Given the description of an element on the screen output the (x, y) to click on. 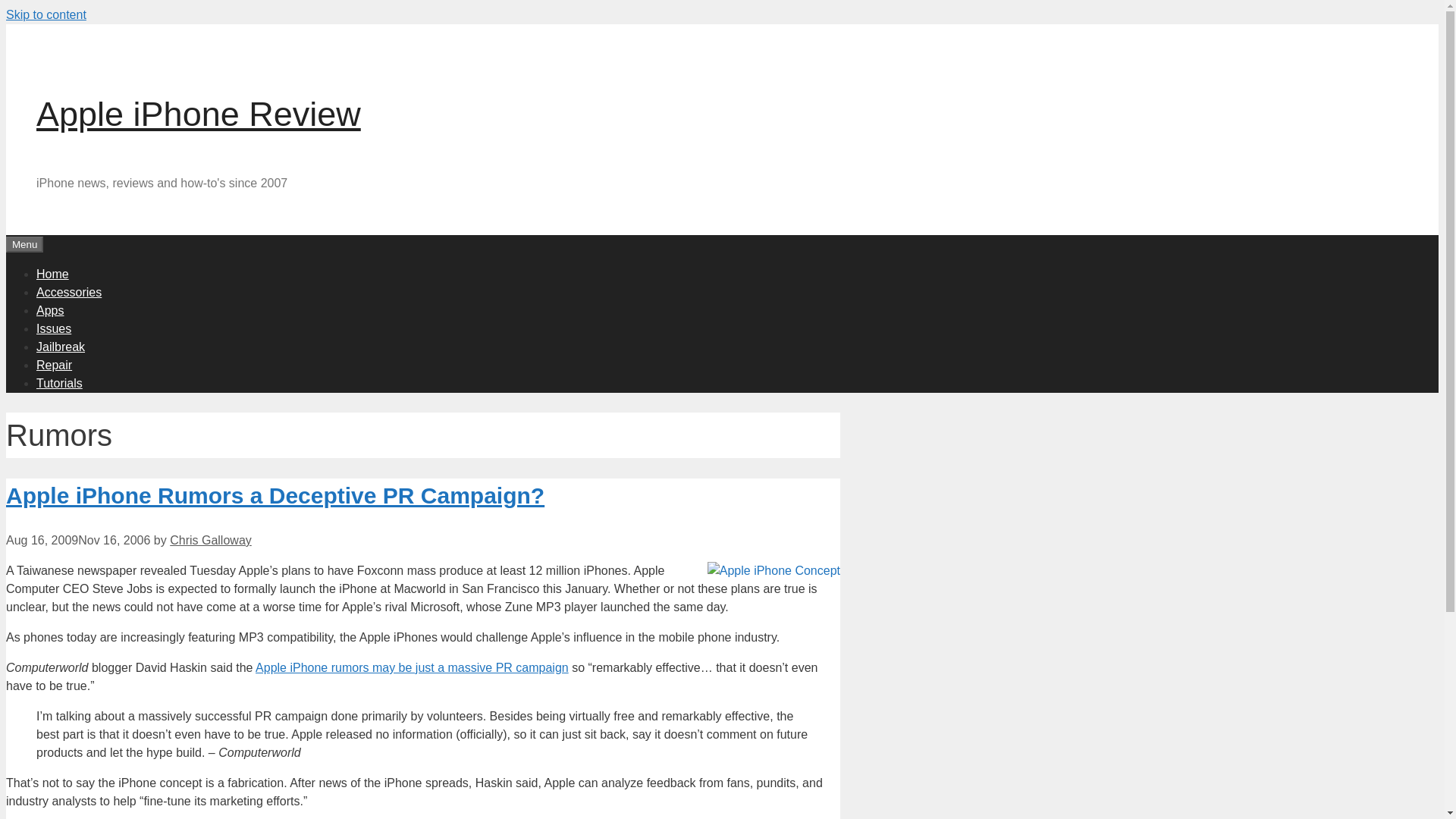
Skip to content (45, 14)
View all posts by Chris Galloway (210, 540)
Menu (24, 244)
Tutorials (59, 382)
Apple iPhone Rumors a Deceptive PR Campaign? (274, 495)
Skip to content (45, 14)
Apple iPhone Review (198, 114)
Apps (50, 309)
Repair (53, 364)
Accessories (68, 291)
Apple iPhone rumors may be just a massive PR campaign (412, 667)
Issues (53, 327)
Home (52, 273)
Chris Galloway (210, 540)
Jailbreak (60, 345)
